Given the description of an element on the screen output the (x, y) to click on. 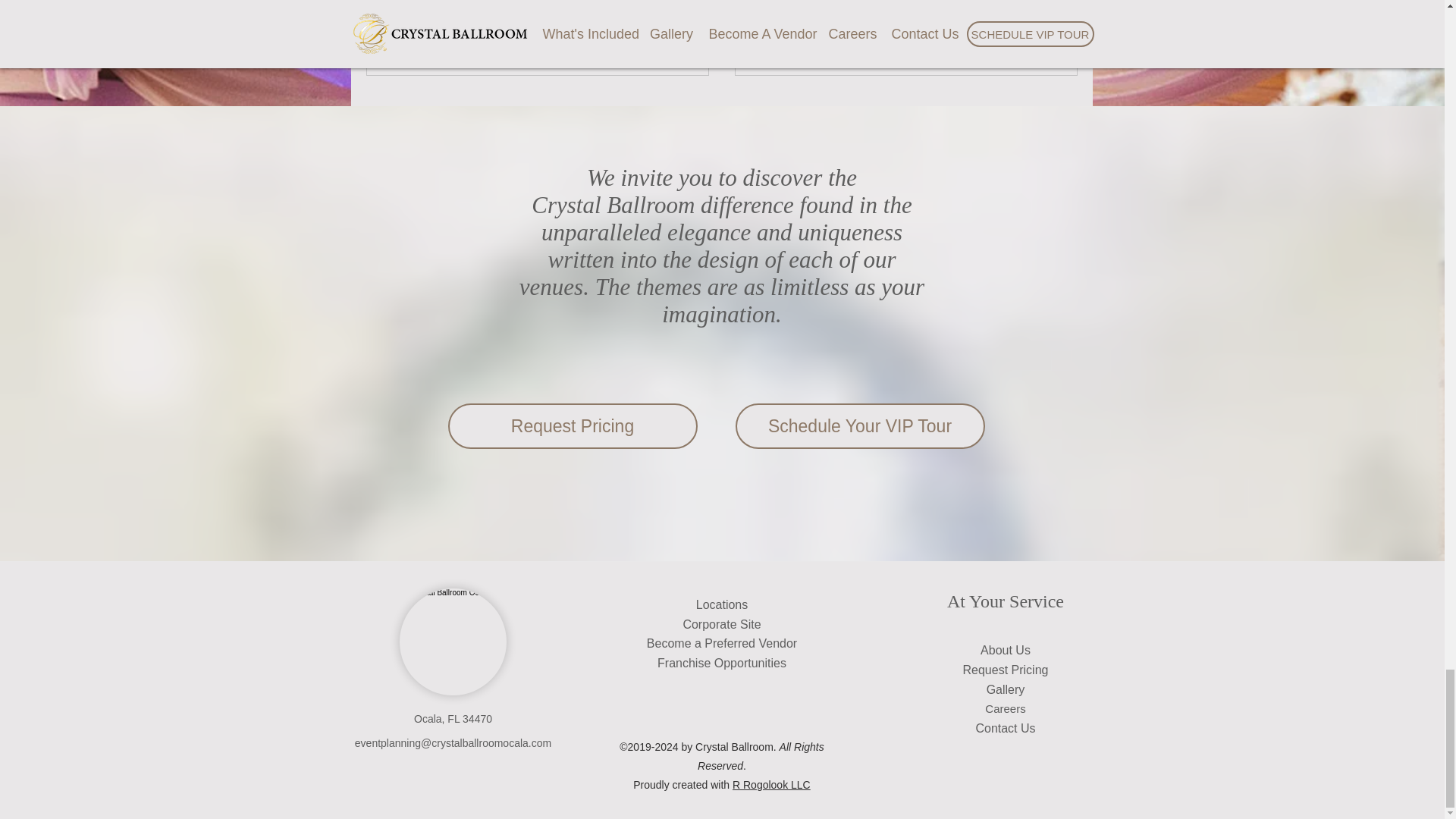
Request Pricing (1005, 669)
Request Pricing (571, 425)
Schedule Your VIP Tour (860, 425)
At Your Service (1005, 600)
Contact Us (1005, 727)
Corporate Site (721, 624)
Become a Preferred Vendor (721, 643)
Careers (1005, 707)
About Us (1004, 649)
Locations (721, 604)
R Rogolook LLC (771, 784)
Planning a Destination Wedding (537, 23)
Wedding Planning at Crystal Ballroom Ocala (906, 23)
Gallery (1006, 688)
Franchise Opportunities (722, 662)
